Given the description of an element on the screen output the (x, y) to click on. 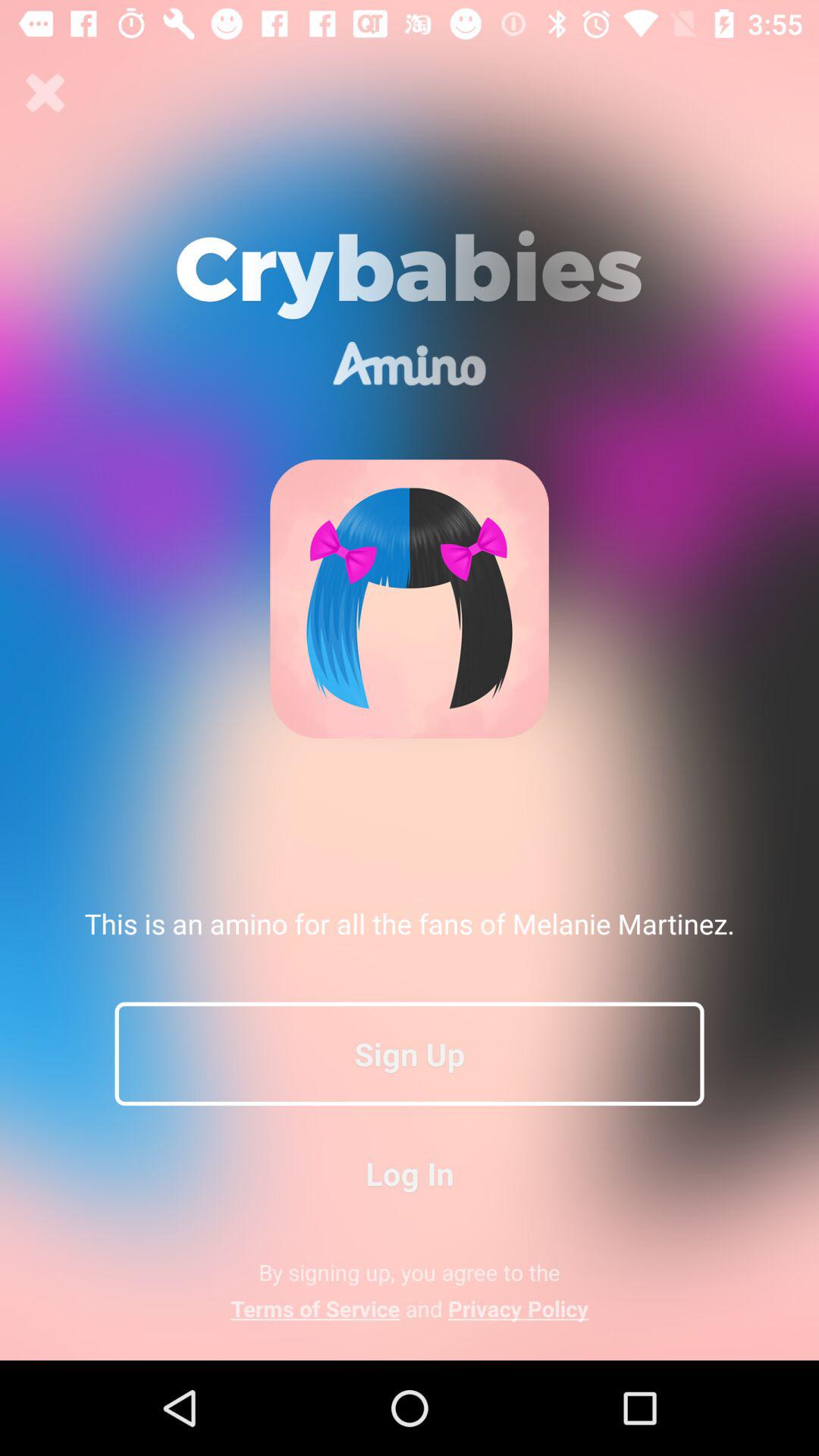
press the icon below this is an icon (409, 1053)
